Given the description of an element on the screen output the (x, y) to click on. 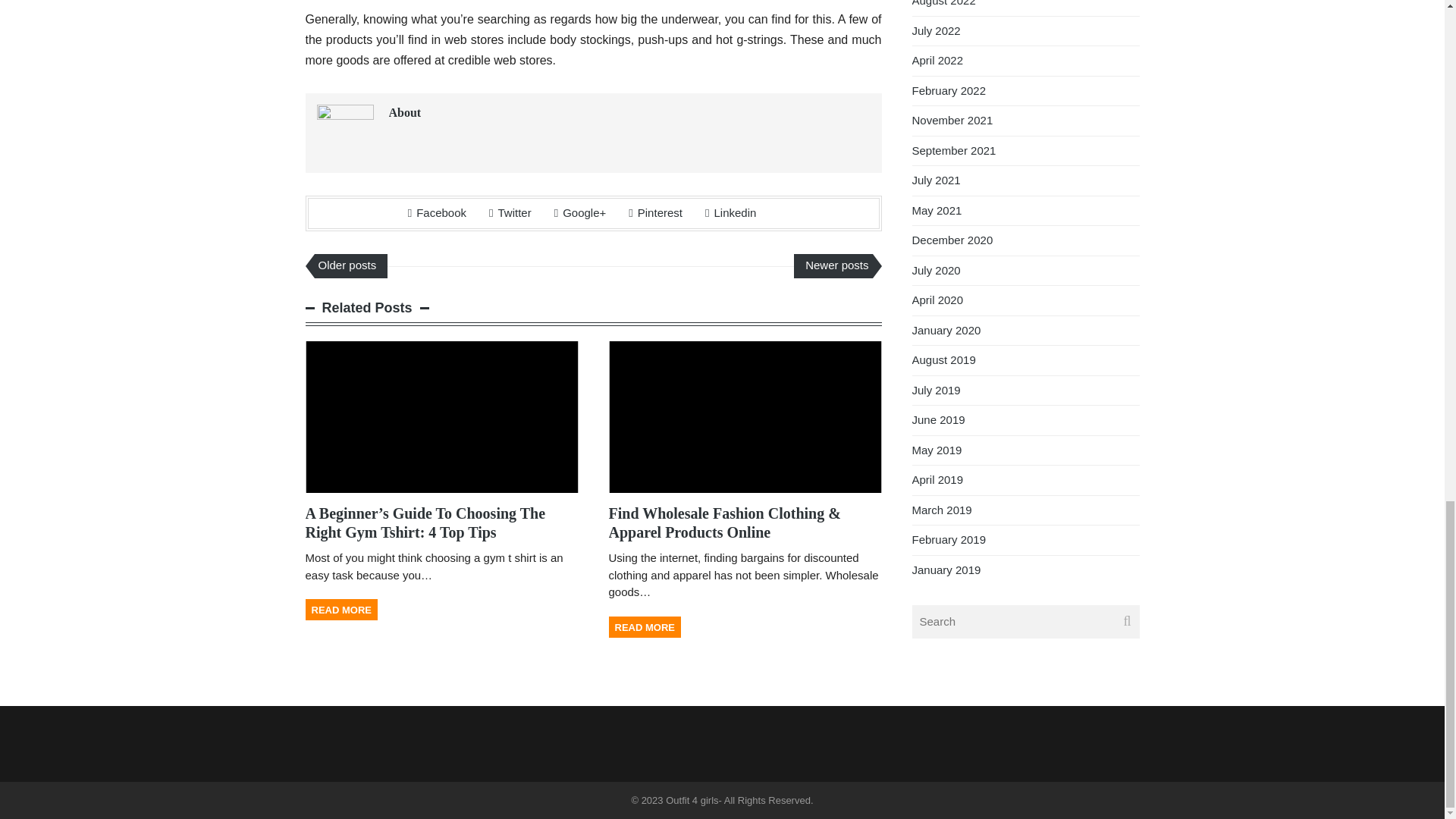
Newer posts (832, 265)
READ MORE (643, 627)
Twitter (510, 212)
Pinterest (655, 212)
READ MORE (340, 608)
Facebook (436, 212)
Older posts (350, 265)
Linkedin (729, 212)
